Given the description of an element on the screen output the (x, y) to click on. 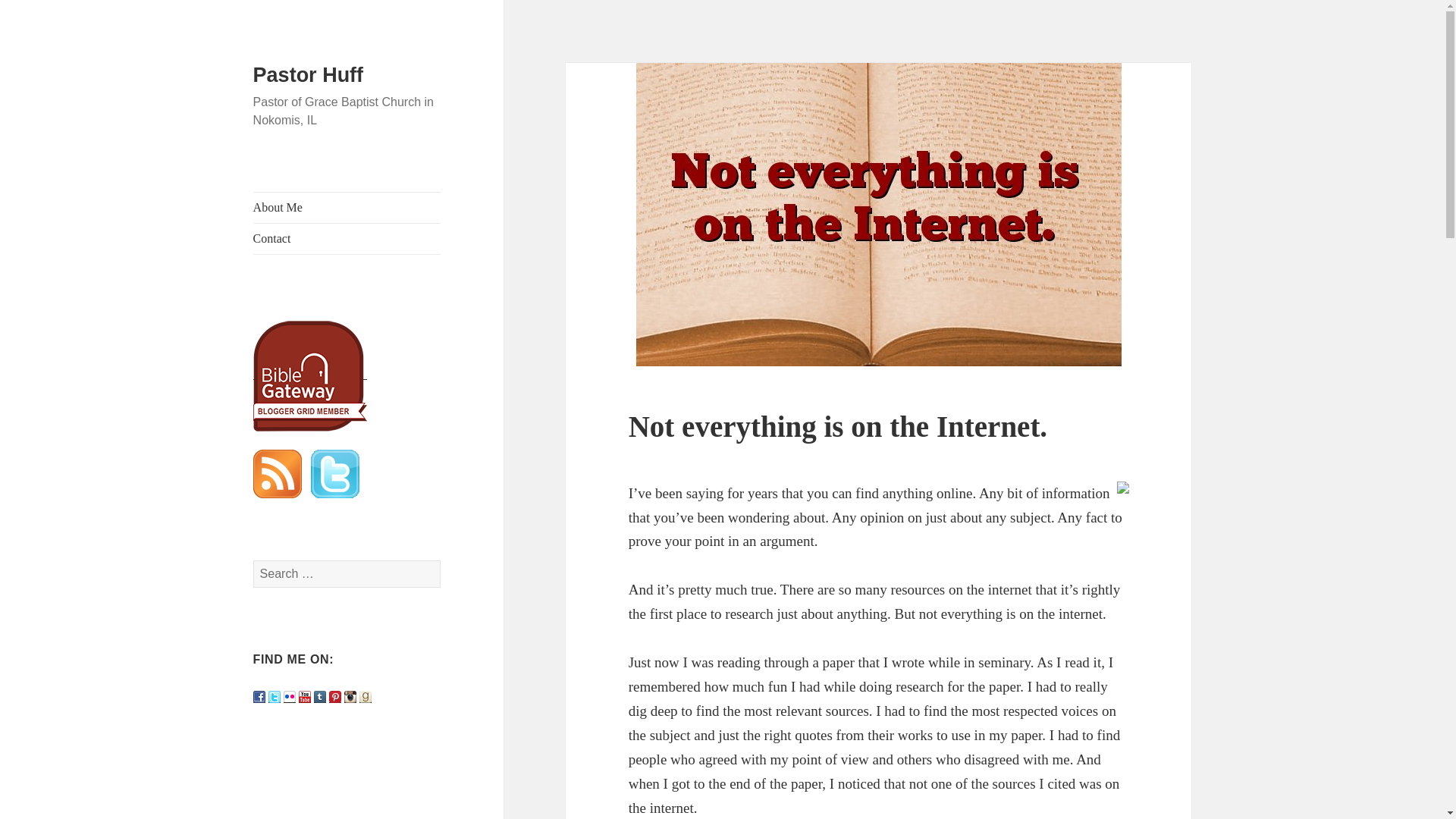
Pastor Huff (308, 74)
About Me (347, 207)
Contact (347, 238)
